Given the description of an element on the screen output the (x, y) to click on. 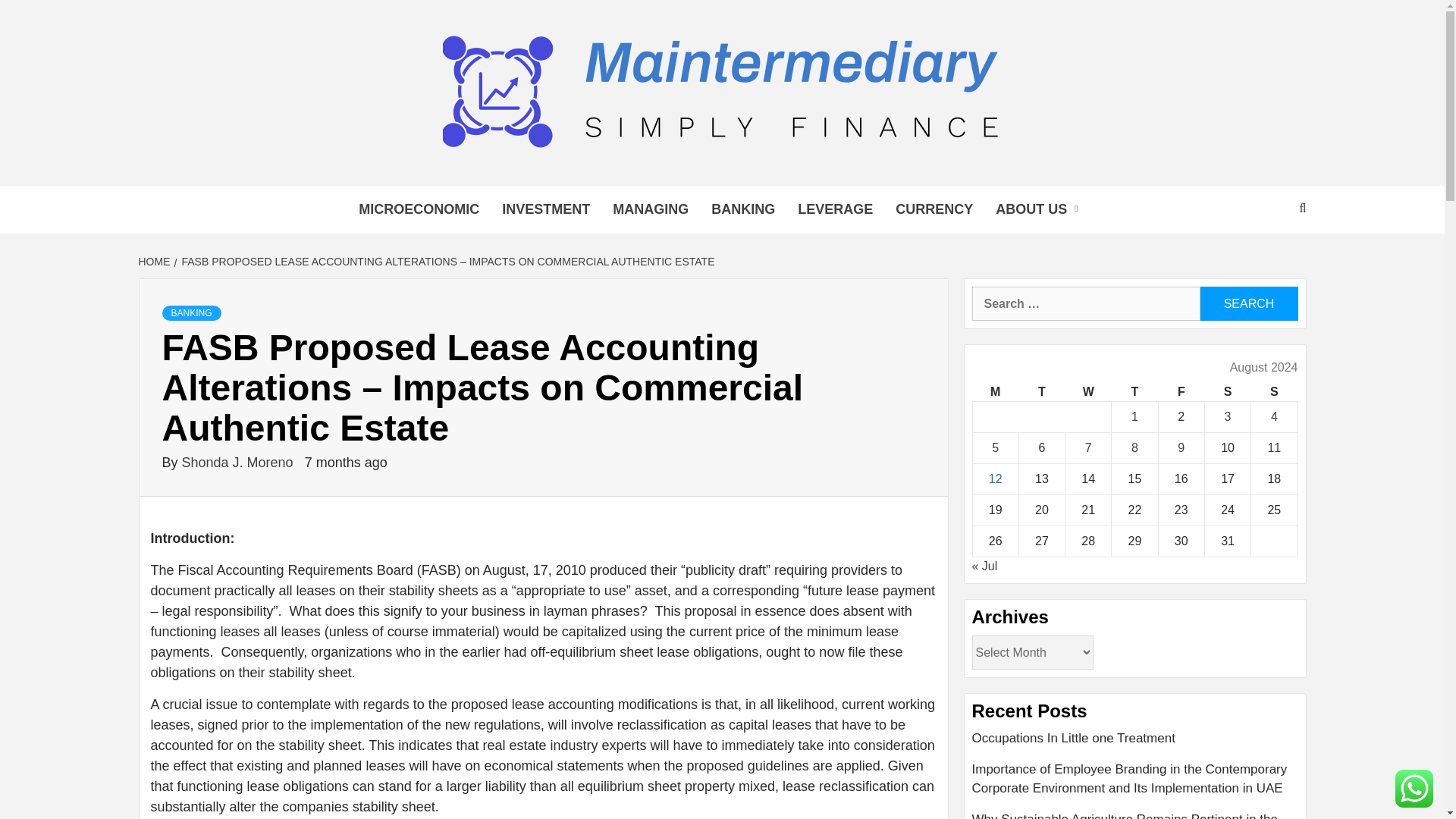
Wednesday (1088, 392)
BANKING (191, 313)
Search (1248, 303)
MANAGING (650, 209)
BANKING (743, 209)
Saturday (1227, 392)
MICROECONOMIC (418, 209)
ABOUT US (1040, 209)
Monday (994, 392)
Search (1248, 303)
